Given the description of an element on the screen output the (x, y) to click on. 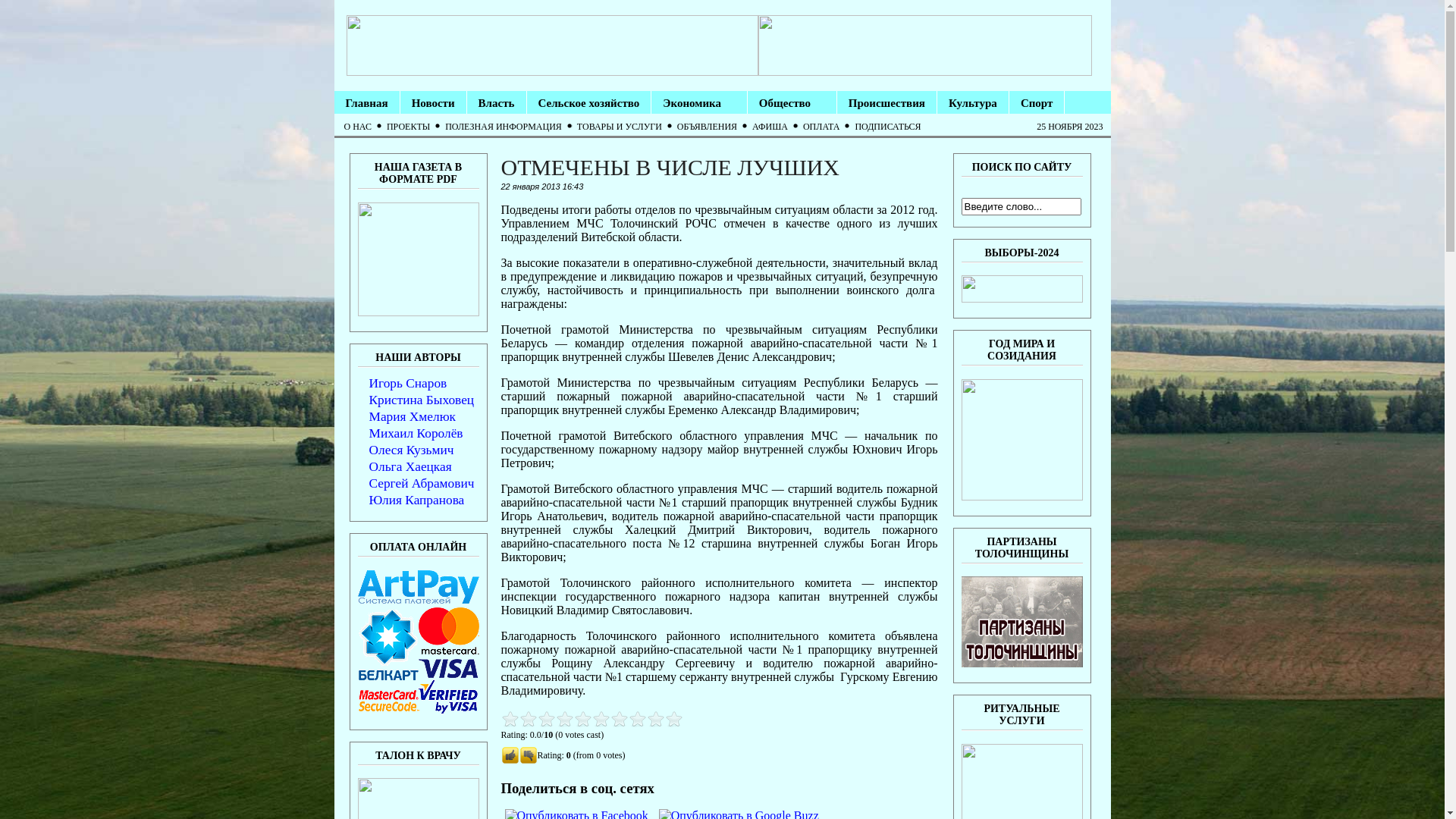
9 / 10 Element type: hover (582, 718)
7 / 10 Element type: hover (563, 718)
5 / 10 Element type: hover (545, 718)
10 / 10 Element type: hover (591, 718)
8 / 10 Element type: hover (573, 718)
6 / 10 Element type: hover (554, 718)
3 / 10 Element type: hover (527, 718)
2 / 10 Element type: hover (518, 718)
4 / 10 Element type: hover (536, 718)
1 / 10 Element type: hover (509, 718)
